Given the description of an element on the screen output the (x, y) to click on. 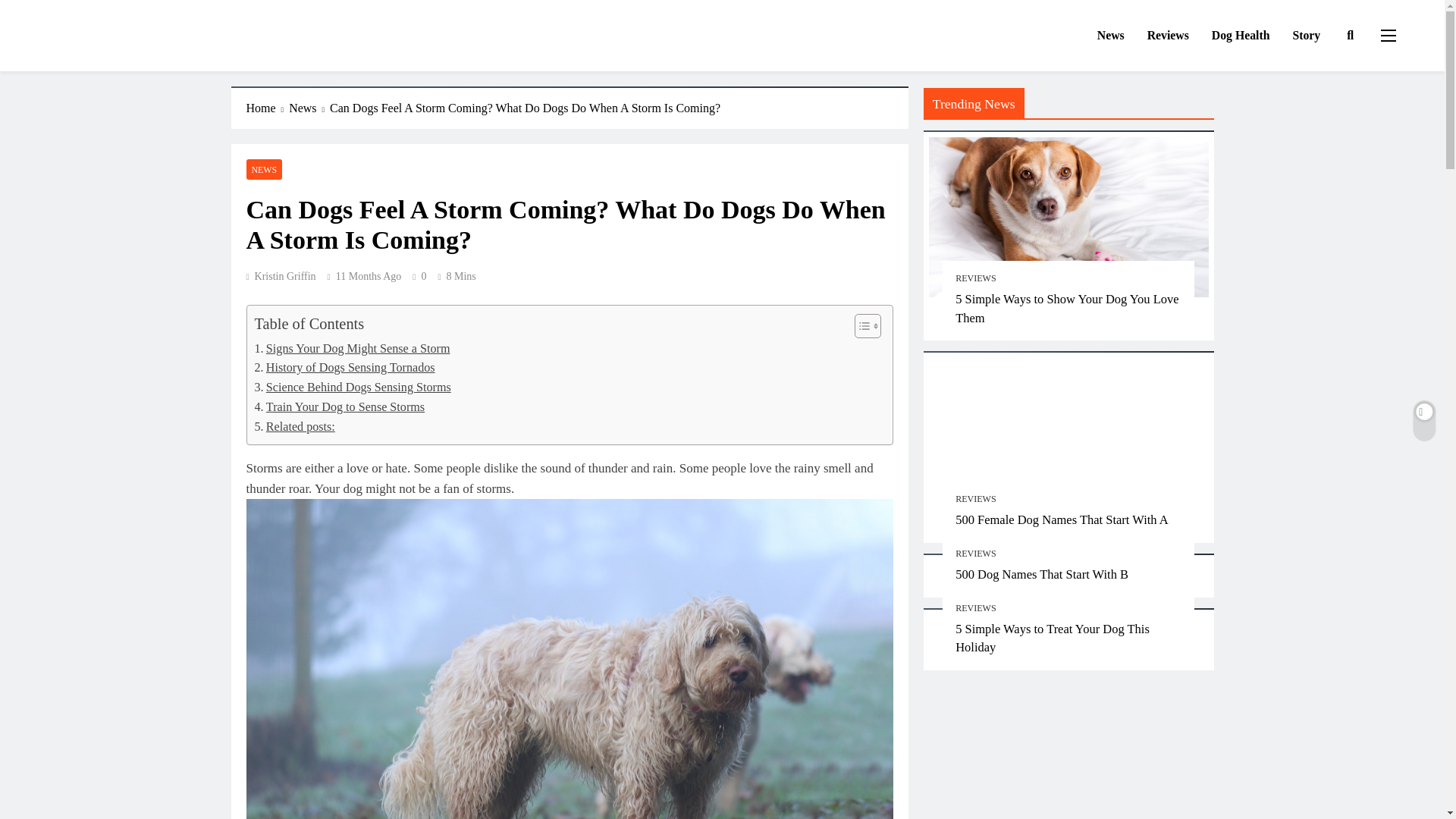
Related posts: (294, 426)
Story (1306, 35)
DogForms (94, 52)
11 Months Ago (368, 276)
Related posts: (294, 426)
History of Dogs Sensing Tornados (344, 367)
Dog Health (1240, 35)
Train Your Dog to Sense Storms (339, 406)
Train Your Dog to Sense Storms (339, 406)
Home (267, 108)
